Given the description of an element on the screen output the (x, y) to click on. 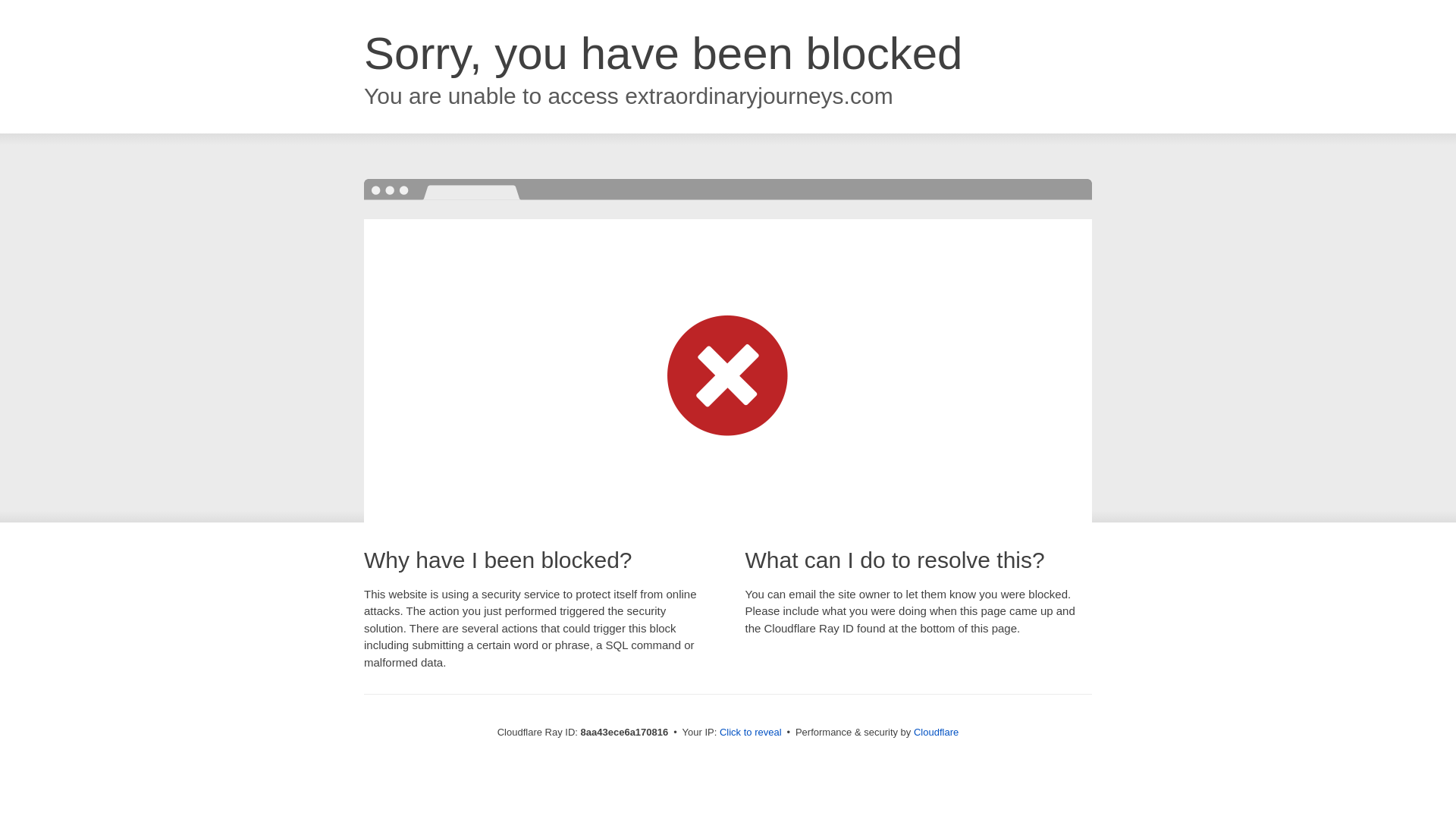
Cloudflare (936, 731)
Click to reveal (750, 732)
